Given the description of an element on the screen output the (x, y) to click on. 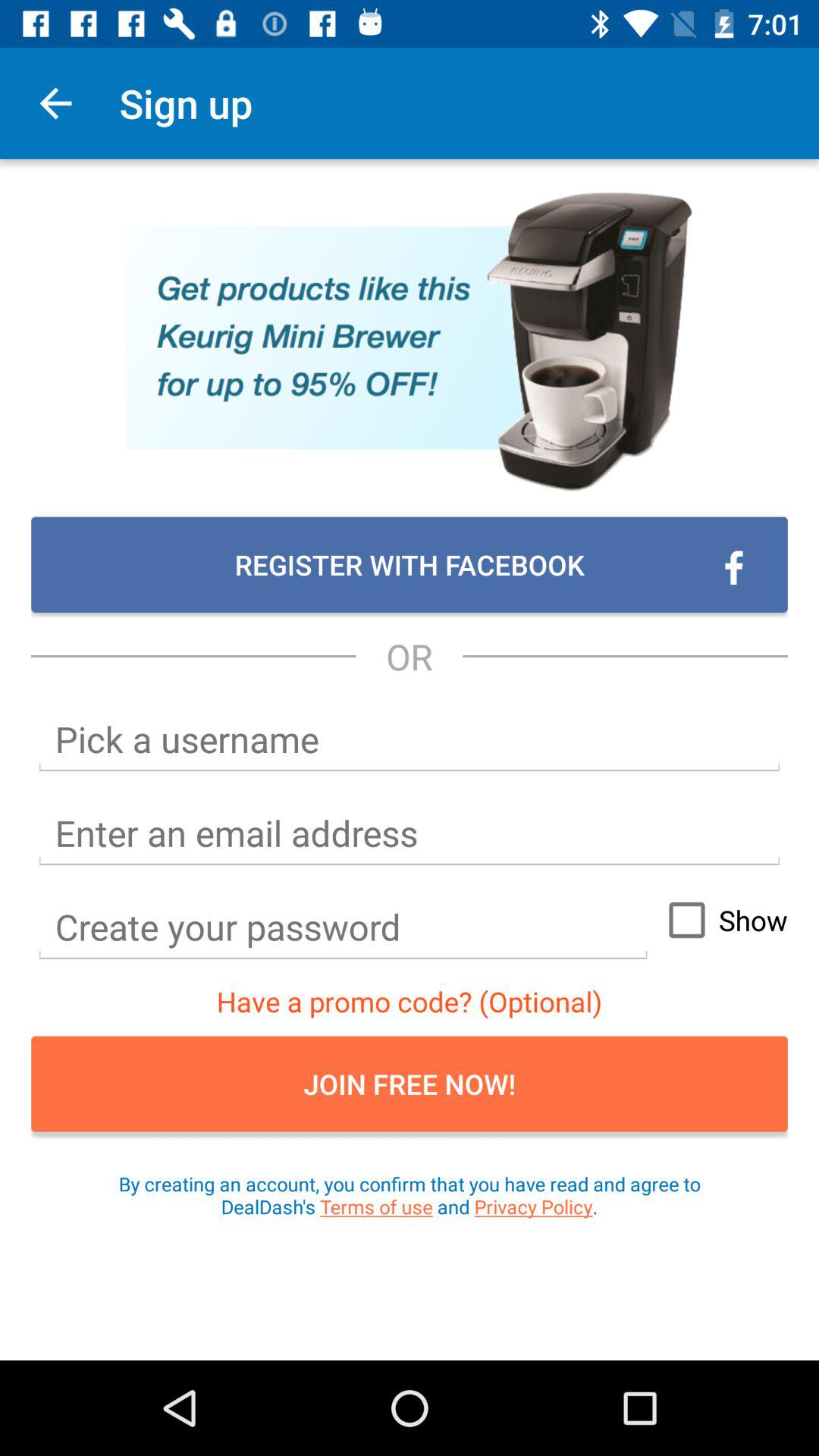
launch item below or icon (409, 739)
